Given the description of an element on the screen output the (x, y) to click on. 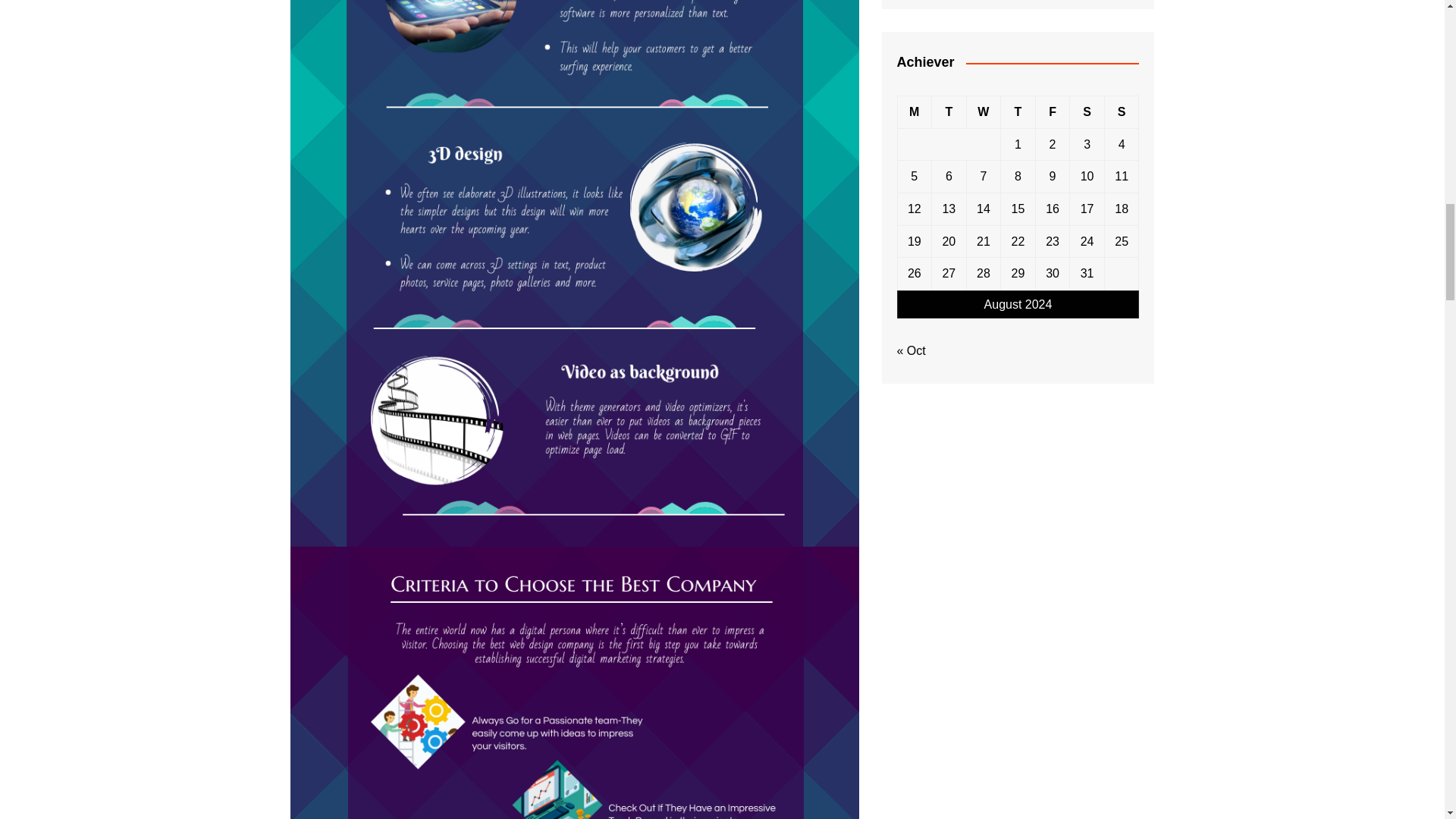
Wednesday (983, 112)
Thursday (1018, 112)
Monday (913, 112)
Tuesday (948, 112)
